Given the description of an element on the screen output the (x, y) to click on. 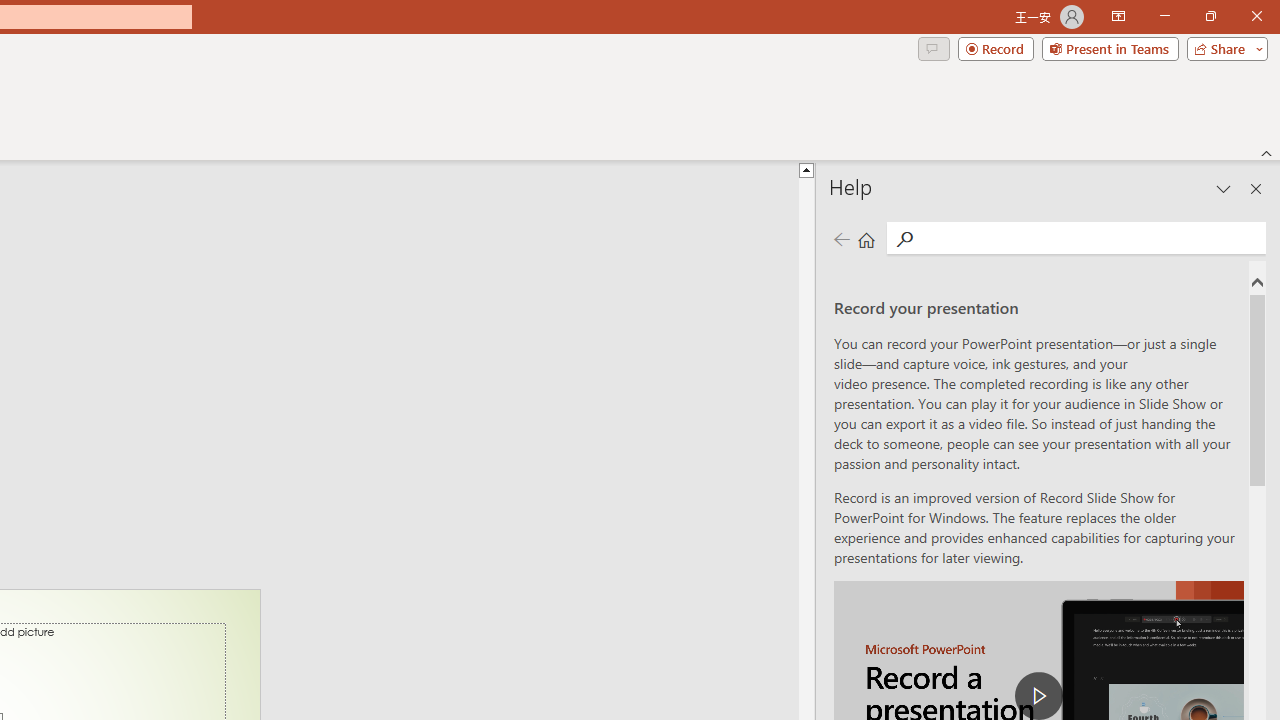
Line up (806, 169)
Close pane (1256, 188)
Previous page (841, 238)
Restore Down (1210, 16)
Task Pane Options (1224, 188)
Search (904, 238)
play Record a Presentation (1038, 695)
